Given the description of an element on the screen output the (x, y) to click on. 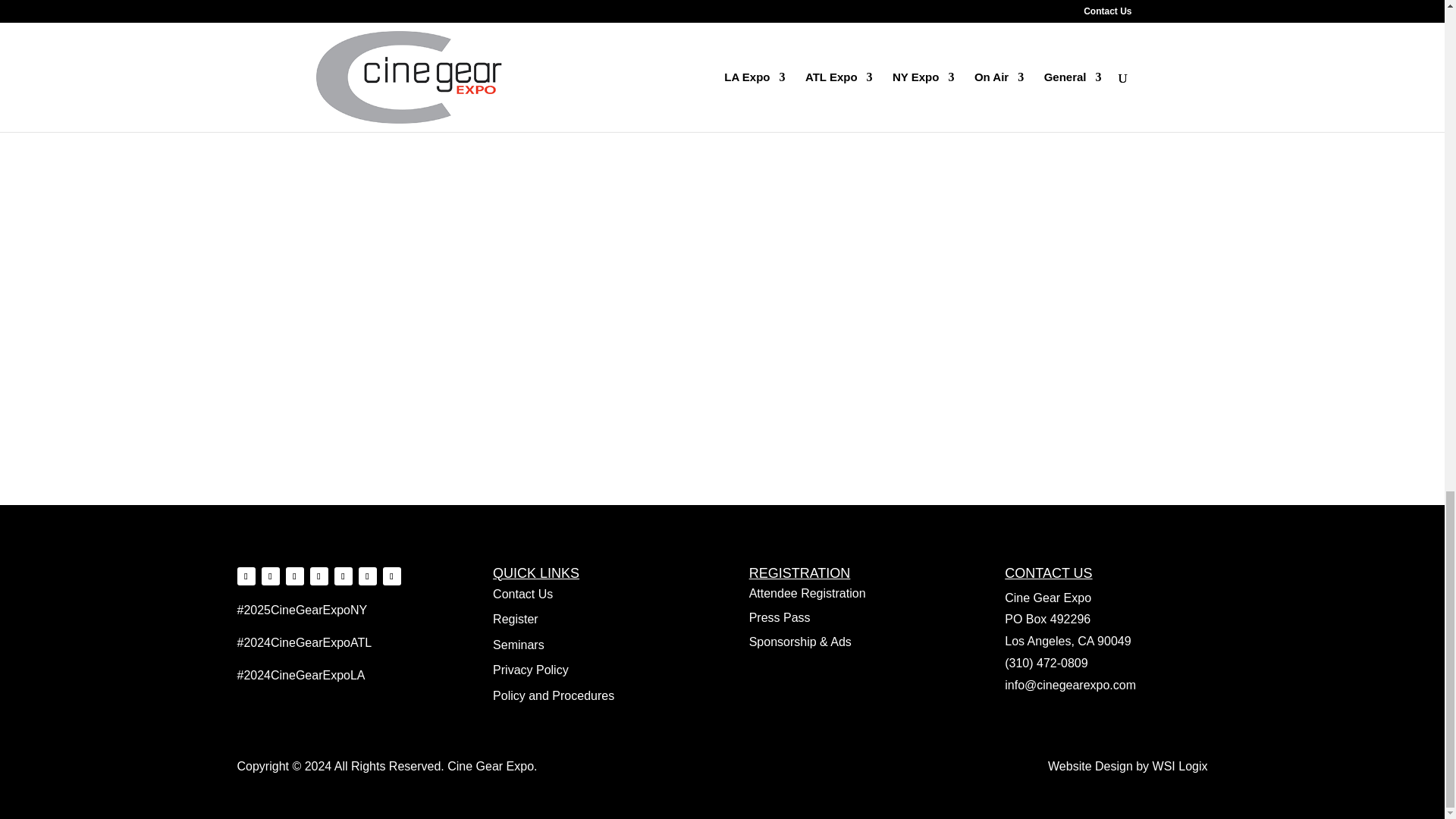
Follow on Instagram (244, 576)
Follow on TikTok (366, 576)
Follow on Pinterest (317, 576)
Follow on X (293, 576)
Follow on Snapchat (390, 576)
Follow on LinkedIn (342, 576)
Follow on Facebook (269, 576)
